Given the description of an element on the screen output the (x, y) to click on. 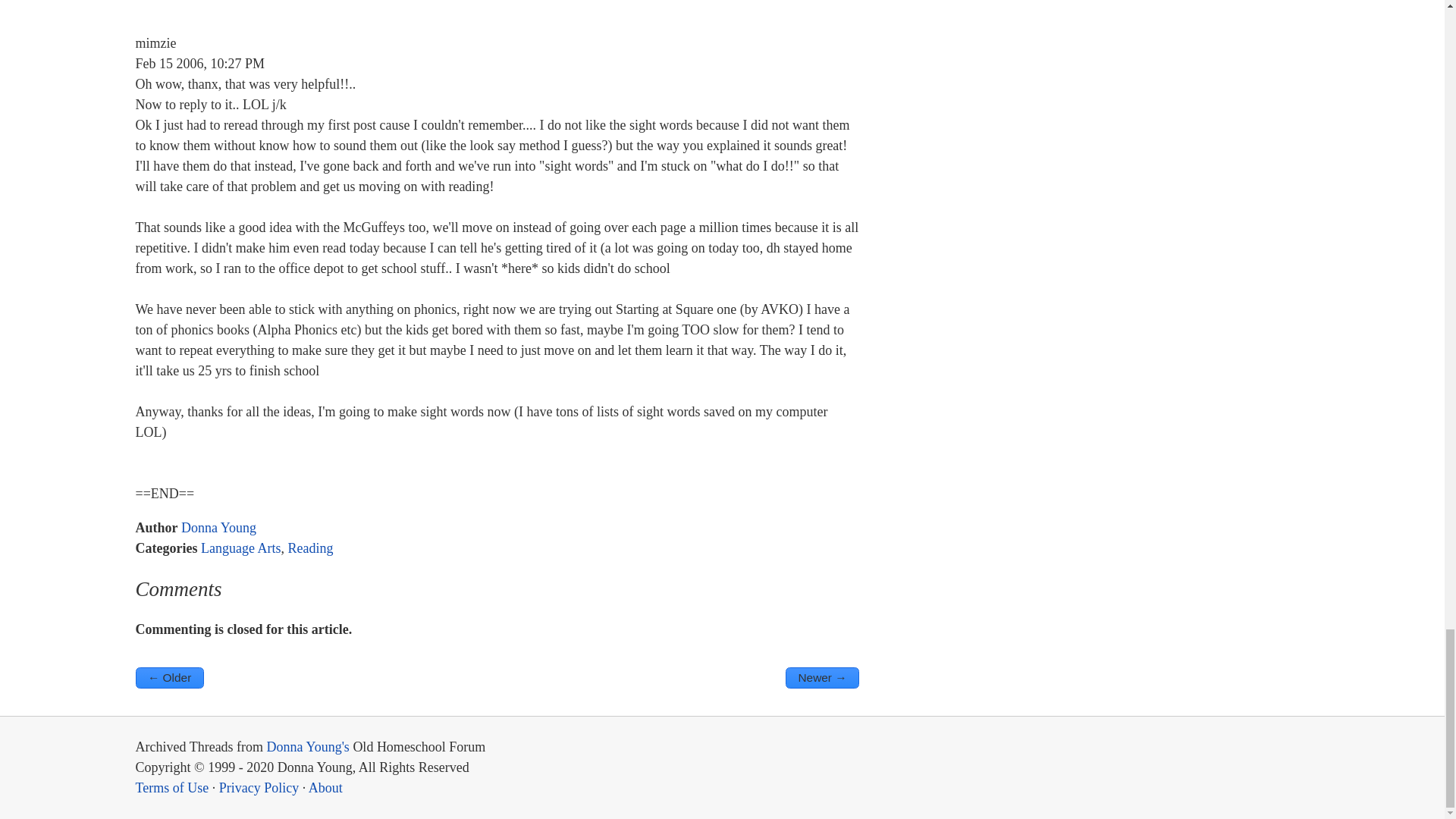
Trouble with phonics? (822, 677)
Donna Young (218, 527)
Book It (169, 677)
Reading (309, 548)
Language Arts (240, 548)
